Given the description of an element on the screen output the (x, y) to click on. 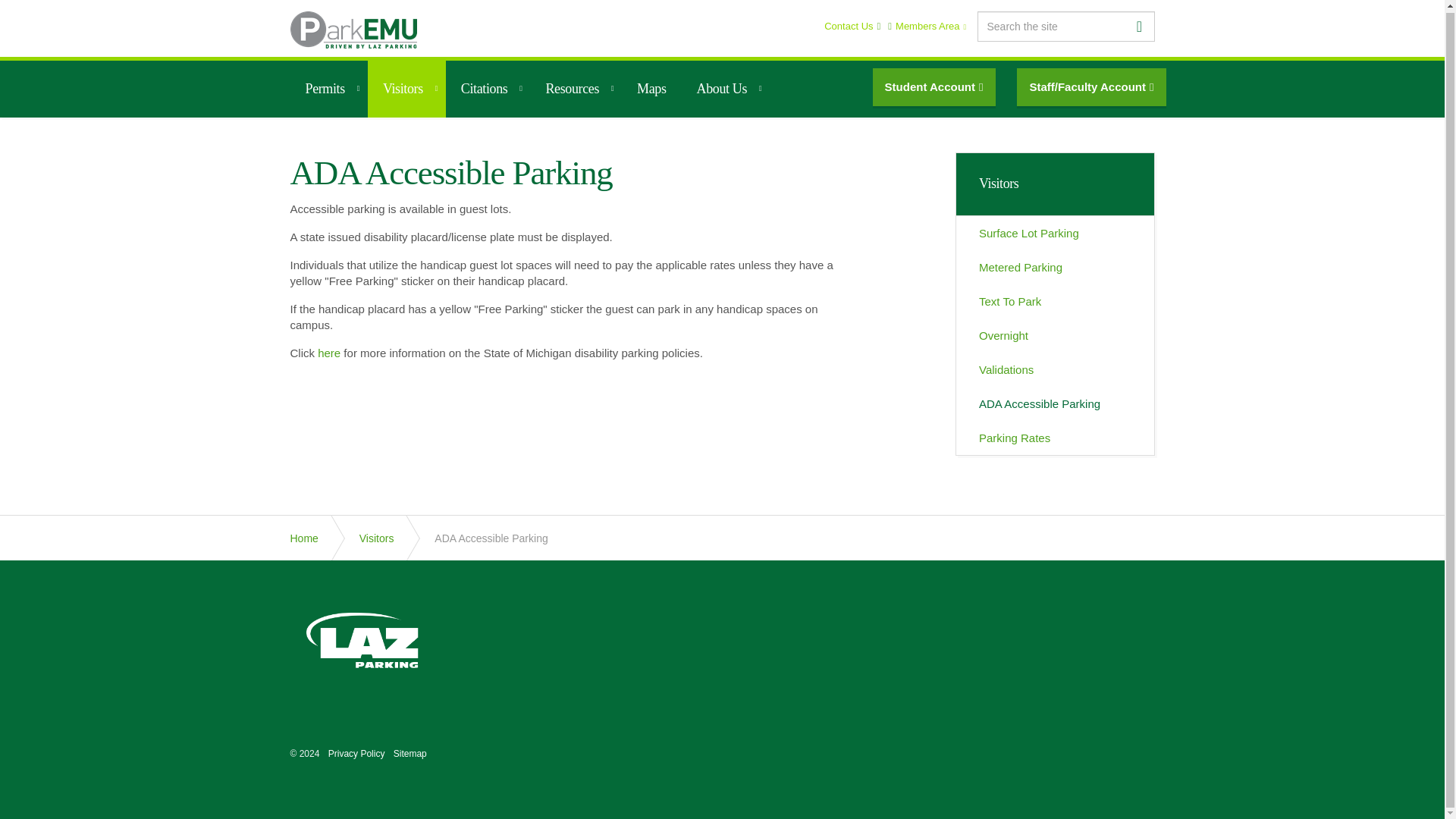
Eastern Michigan University Parking (352, 27)
Permits (327, 87)
Student Account (933, 85)
here (328, 352)
Resources (575, 87)
Visitors (406, 87)
Citations (488, 87)
